Given the description of an element on the screen output the (x, y) to click on. 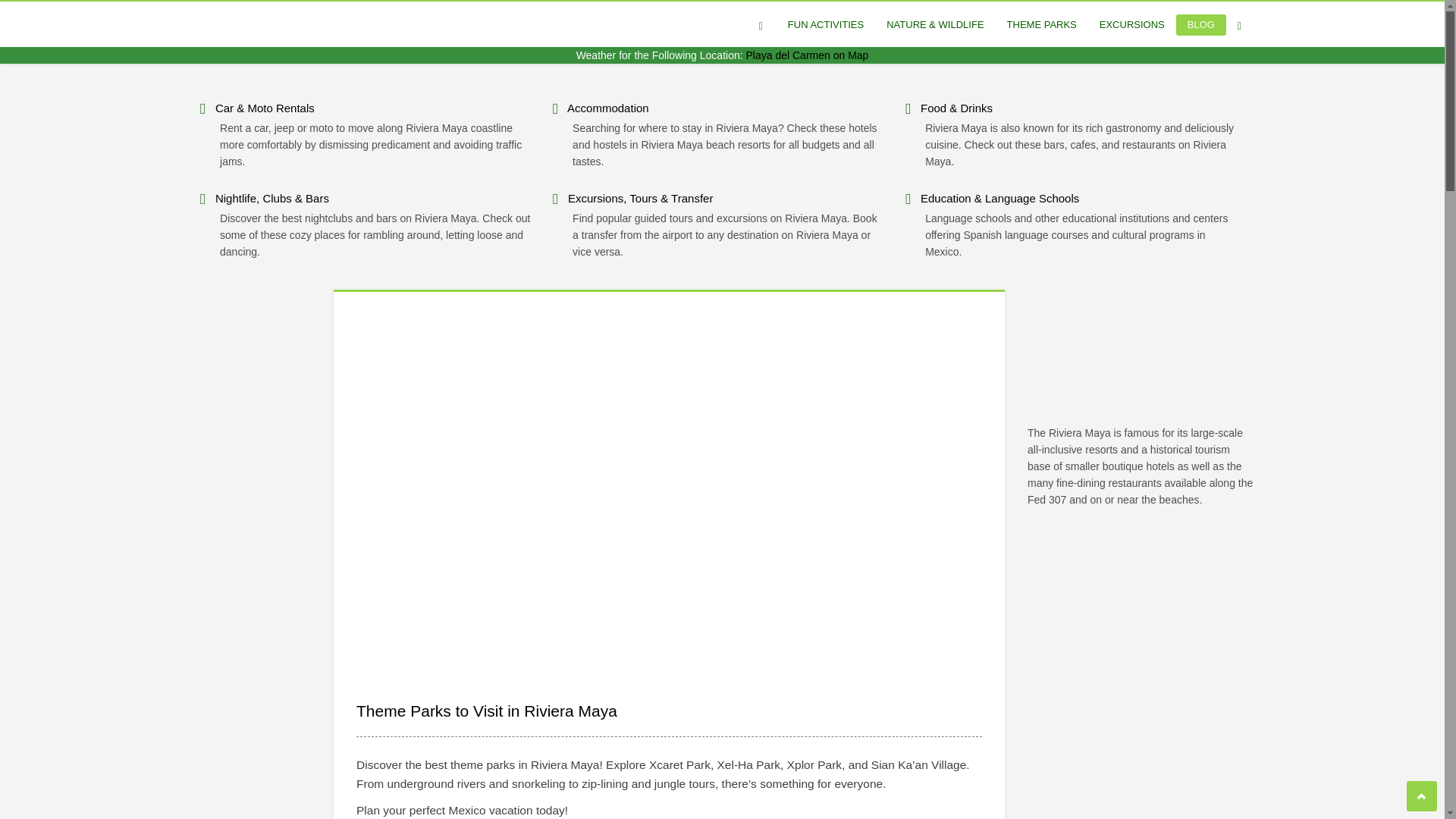
Accommodation (608, 107)
EXCURSIONS (1131, 25)
BLOG (1200, 25)
FUN ACTIVITIES (825, 25)
Playa del Carmen on Map (807, 55)
THEME PARKS (1041, 25)
